Given the description of an element on the screen output the (x, y) to click on. 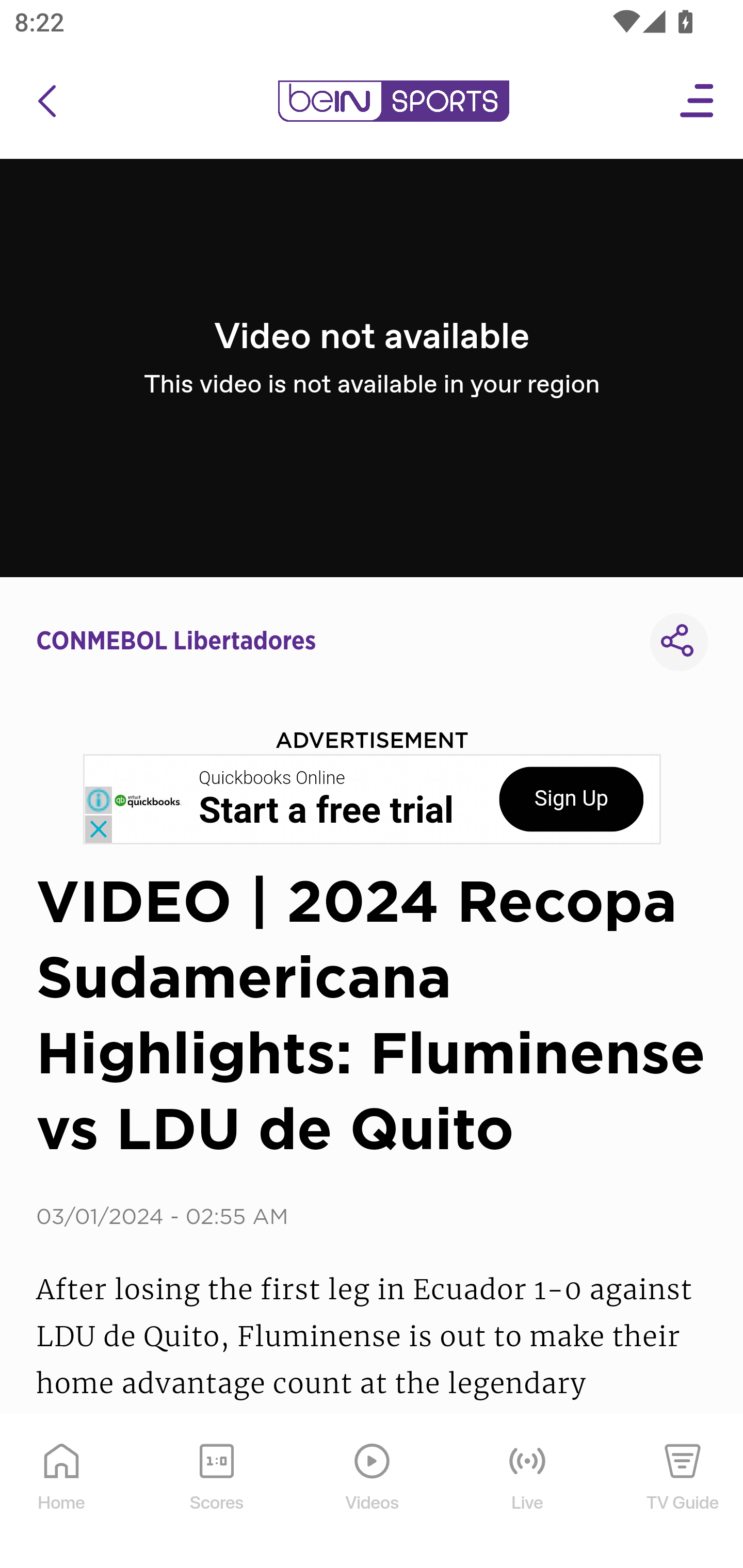
en-us?platform=mobile_android bein logo (392, 101)
icon back (46, 101)
Open Menu Icon (697, 101)
Quickbooks Online (272, 778)
Sign Up (571, 799)
Start a free trial (326, 810)
Home Home Icon Home (61, 1491)
Scores Scores Icon Scores (216, 1491)
Videos Videos Icon Videos (372, 1491)
TV Guide TV Guide Icon TV Guide (682, 1491)
